Given the description of an element on the screen output the (x, y) to click on. 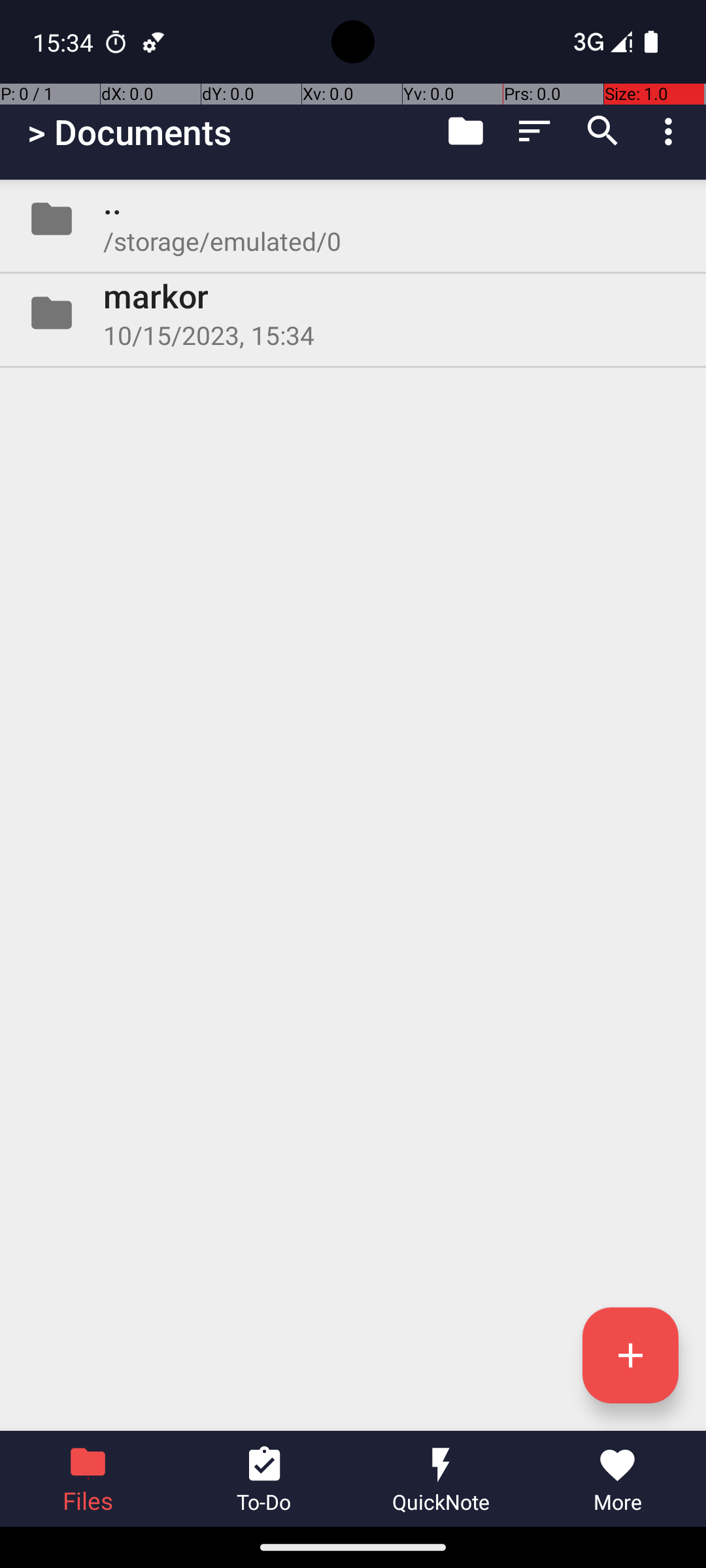
Folder markor  Element type: android.widget.LinearLayout (353, 312)
